Given the description of an element on the screen output the (x, y) to click on. 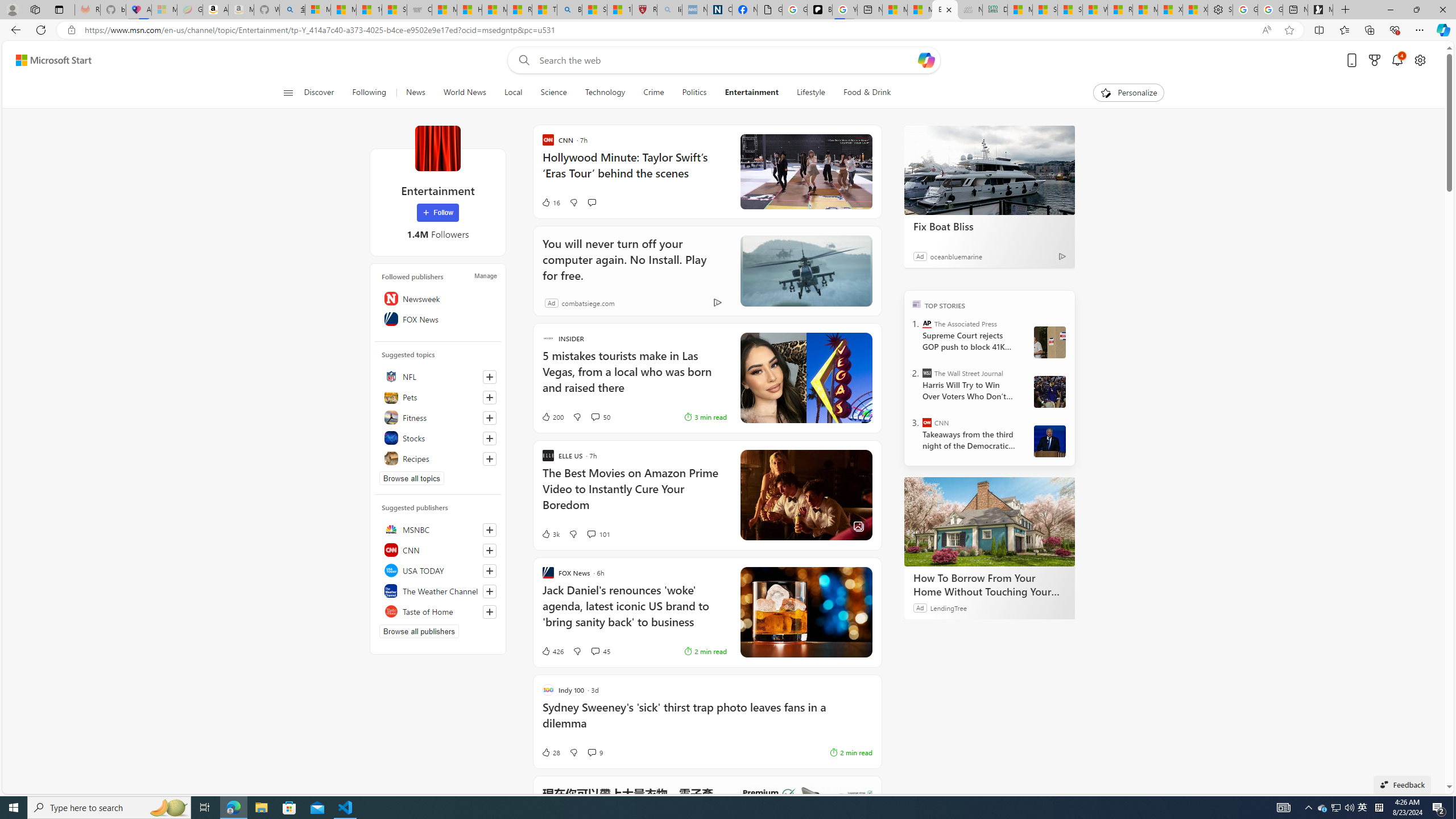
Entertainment (750, 92)
TOP (916, 302)
Follow (437, 212)
Lifestyle (810, 92)
Personalize (1128, 92)
oceanbluemarine (956, 256)
